Given the description of an element on the screen output the (x, y) to click on. 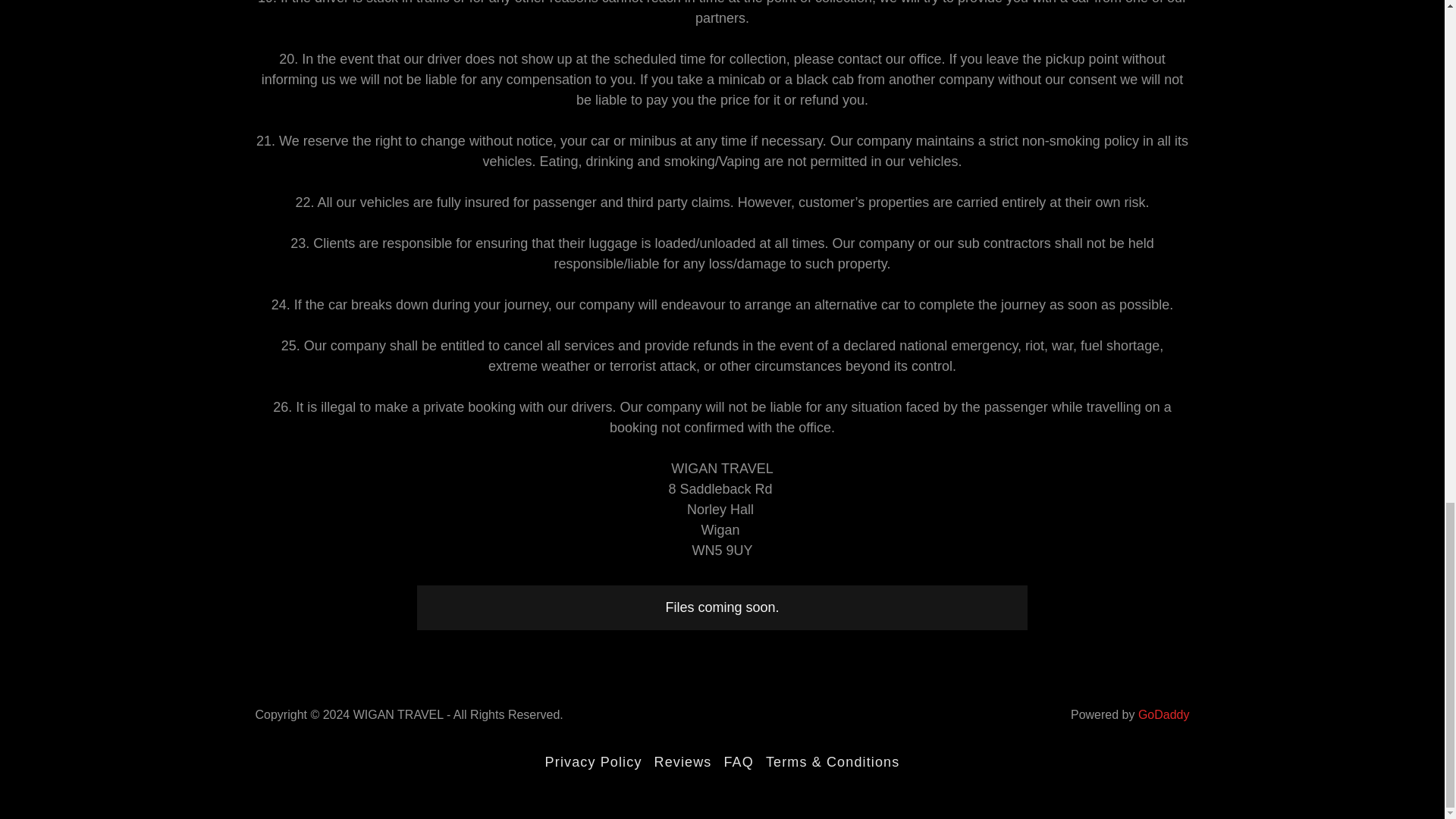
Reviews (682, 762)
Privacy Policy (592, 762)
FAQ (737, 762)
GoDaddy (1163, 714)
